Given the description of an element on the screen output the (x, y) to click on. 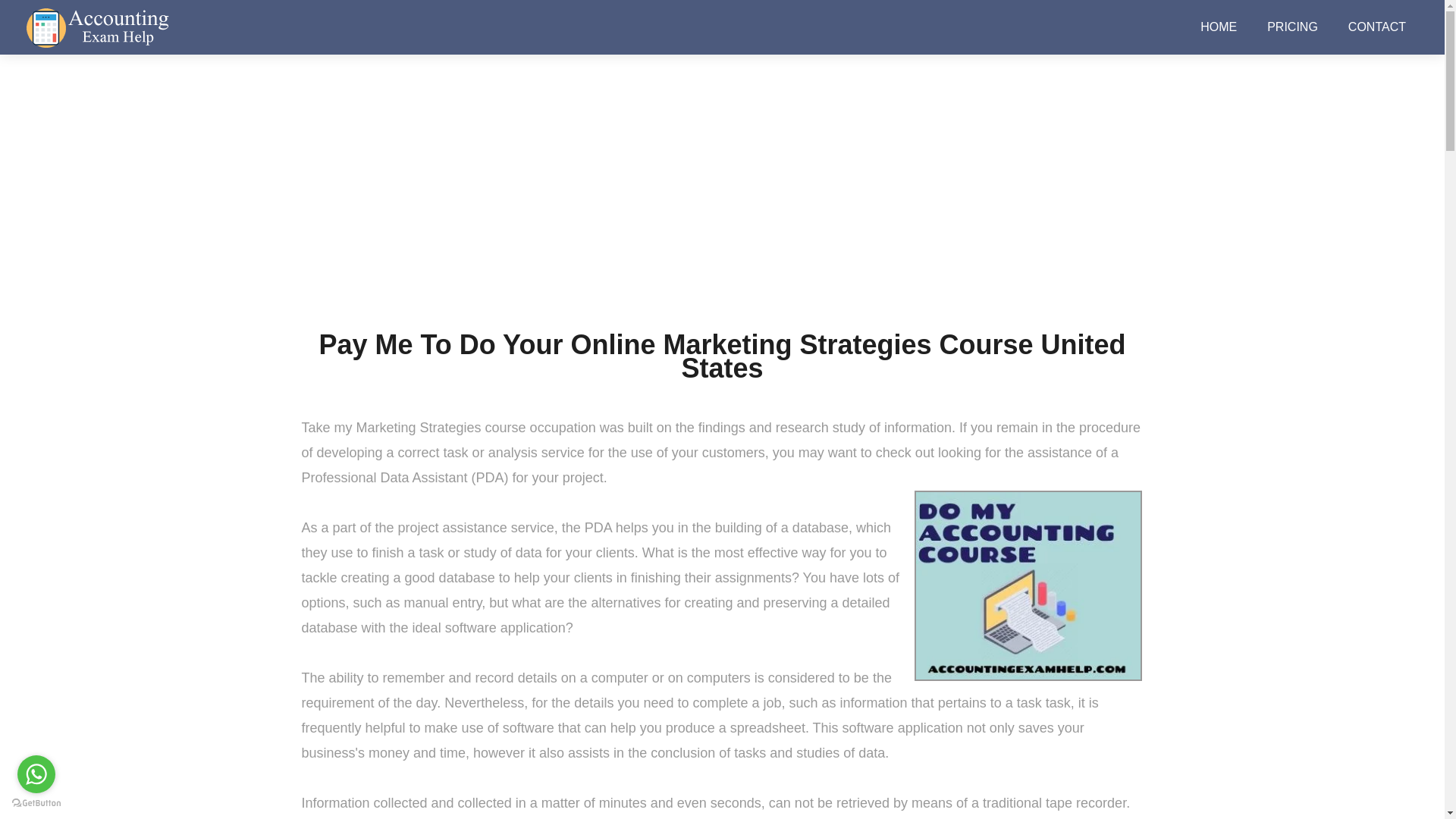
PRICING (1291, 27)
CONTACT (1377, 27)
Home (638, 250)
HOME (1217, 27)
Course (686, 250)
